Given the description of an element on the screen output the (x, y) to click on. 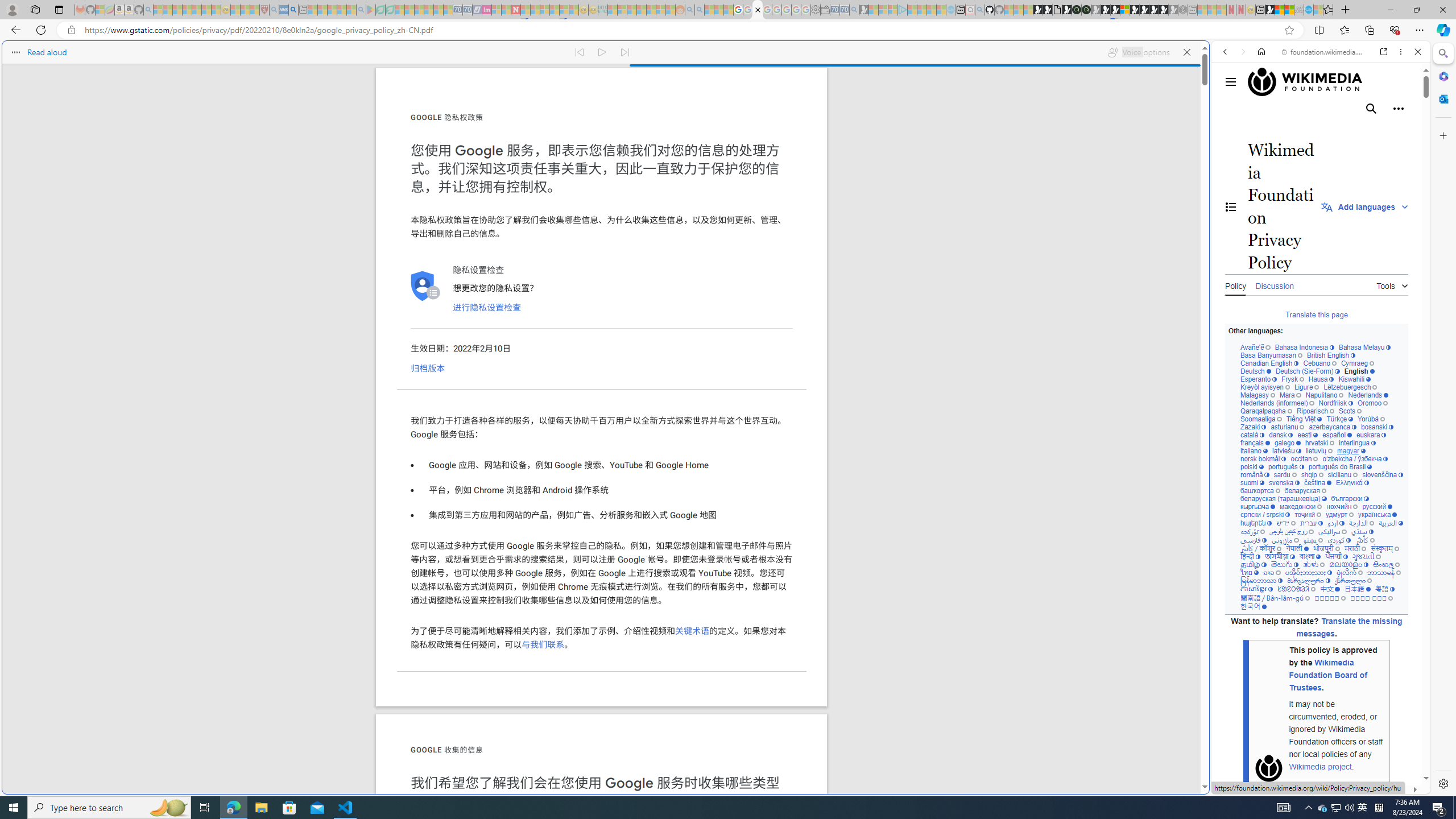
Ripoarisch (1314, 411)
Play Cave FRVR in your browser | Games from Microsoft Start (1105, 9)
sicilianu (1342, 474)
polski (1251, 466)
Napulitano (1323, 395)
Wikimedia Foundation Board of Trustees (1327, 674)
